Given the description of an element on the screen output the (x, y) to click on. 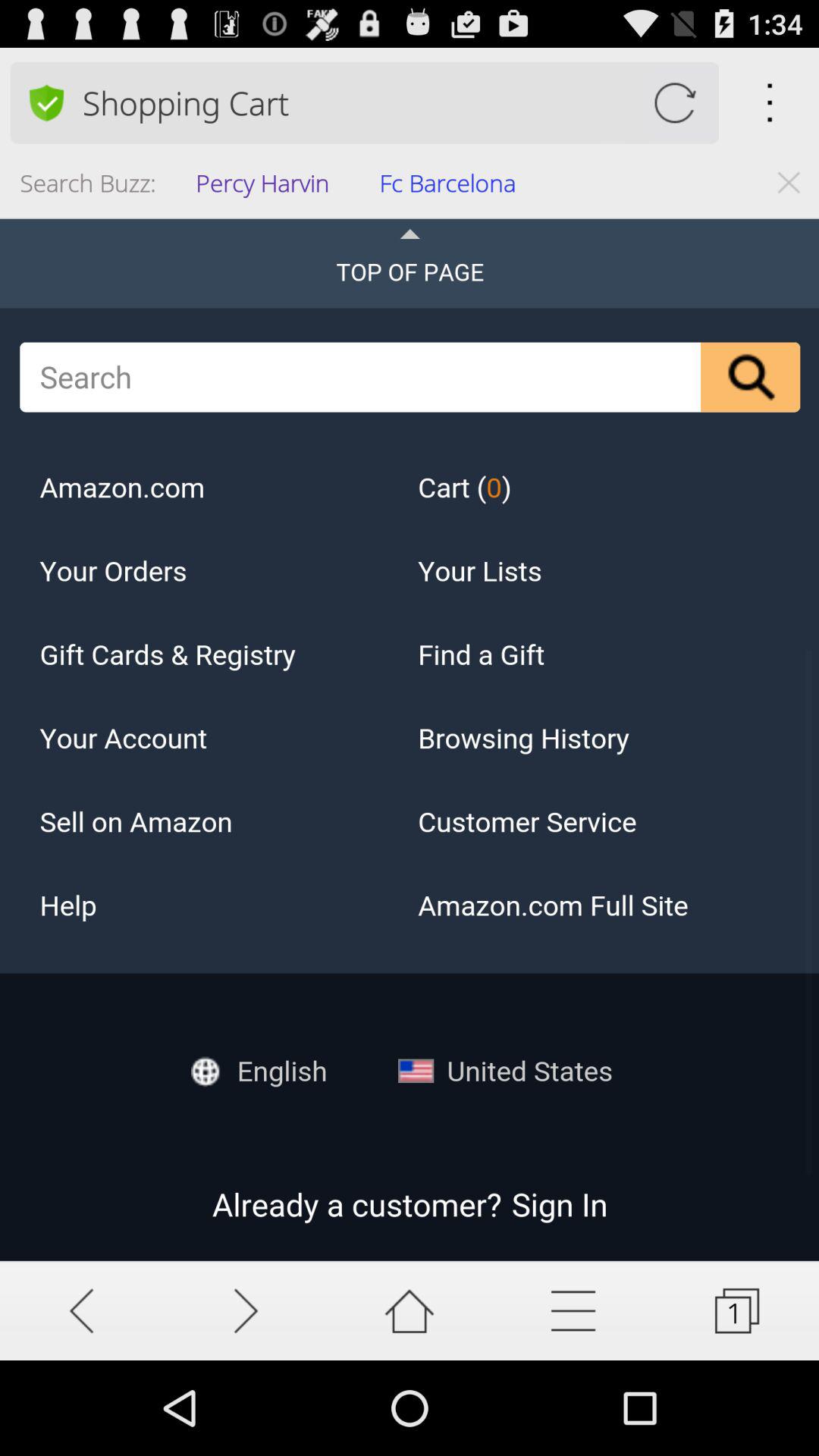
turn off the item at the bottom (409, 1310)
